Given the description of an element on the screen output the (x, y) to click on. 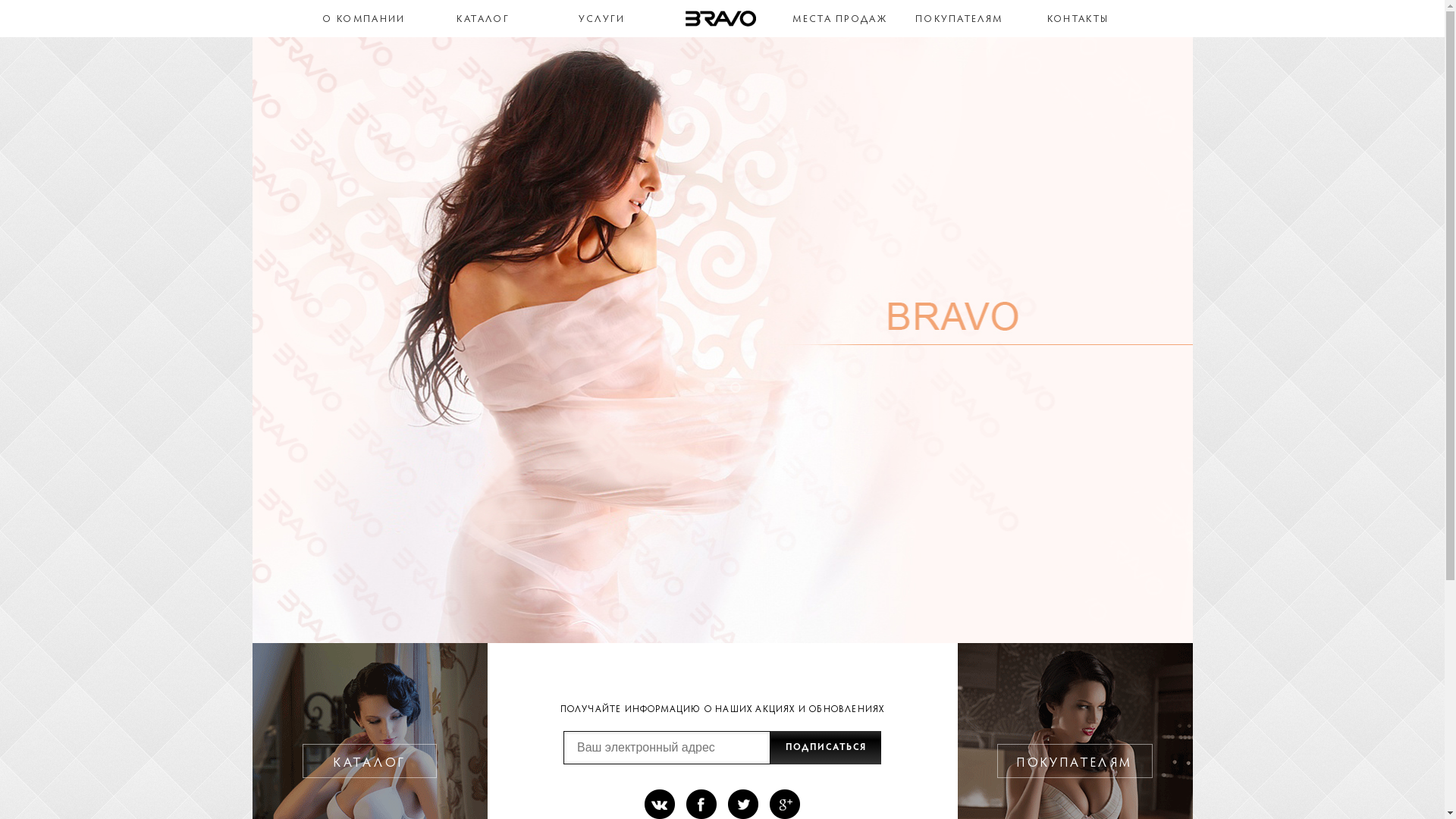
1 Element type: text (708, 387)
2 Element type: text (734, 387)
